Given the description of an element on the screen output the (x, y) to click on. 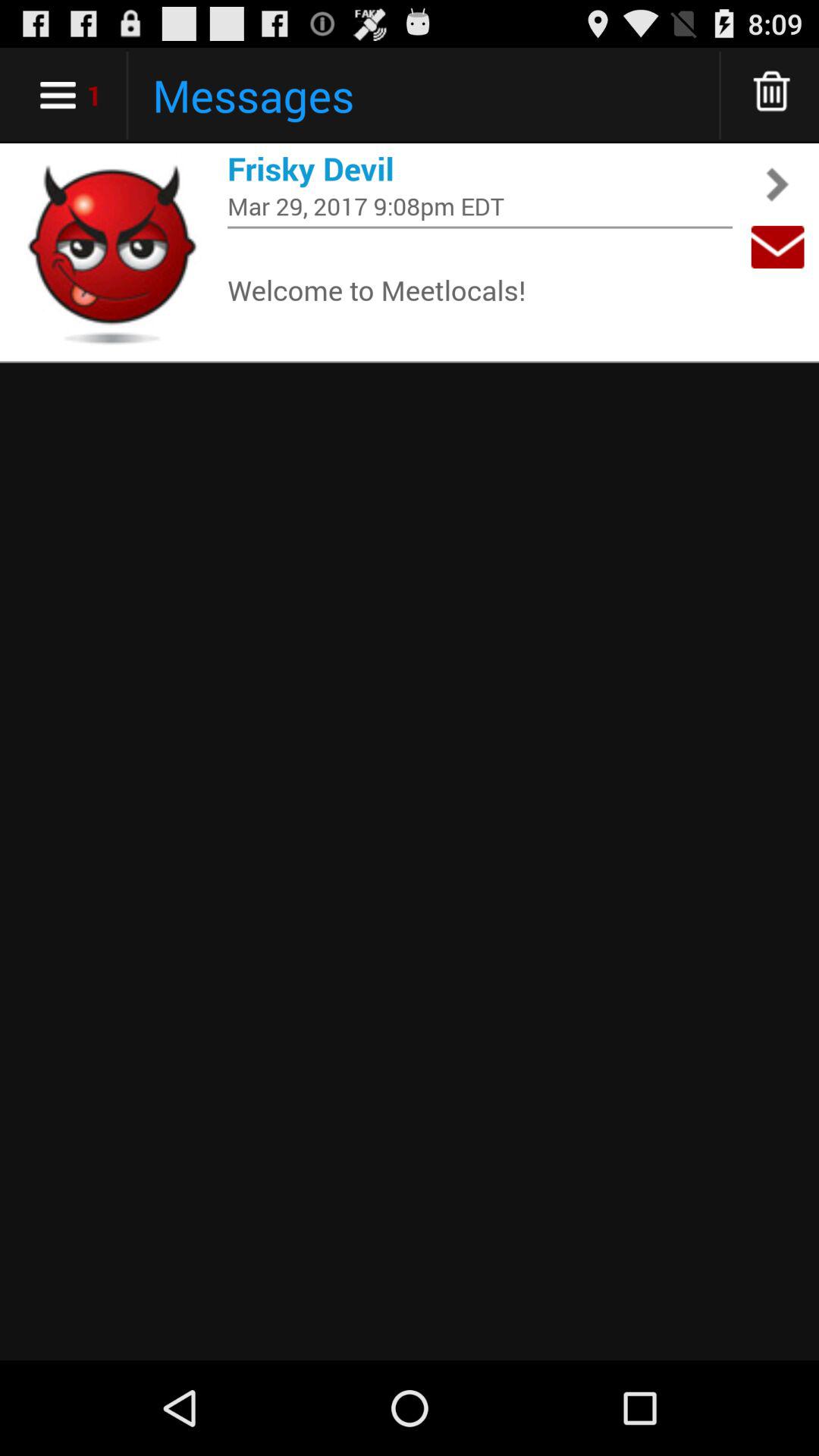
press item to the right of mar 29 2017 app (777, 246)
